Given the description of an element on the screen output the (x, y) to click on. 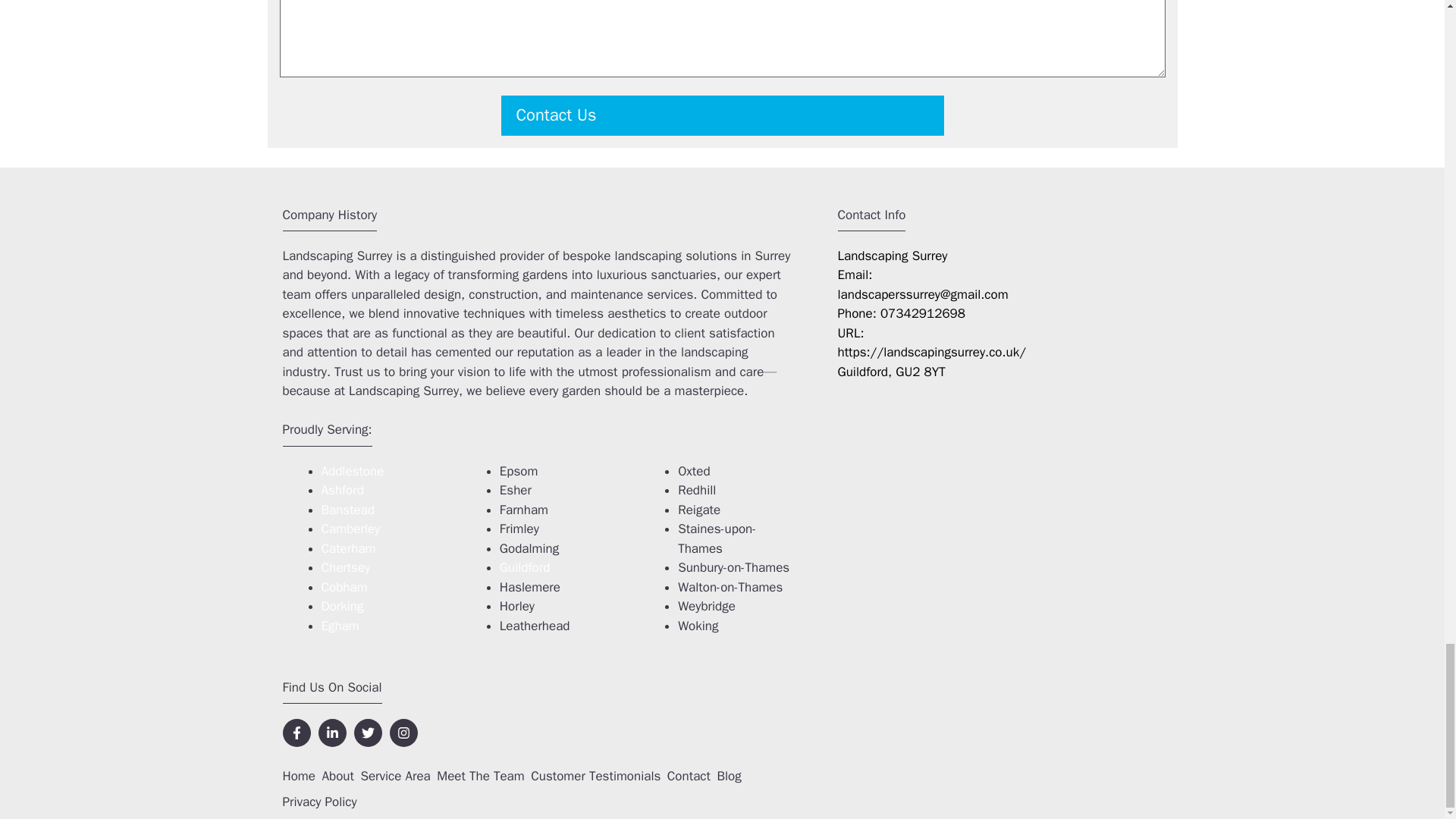
Banstead (348, 509)
Service Area (394, 776)
Egham (340, 625)
Cobham (344, 587)
Addlestone (352, 471)
Privacy Policy (319, 802)
Camberley (350, 528)
Chertsey (346, 567)
Dorking (342, 606)
About (337, 776)
